Given the description of an element on the screen output the (x, y) to click on. 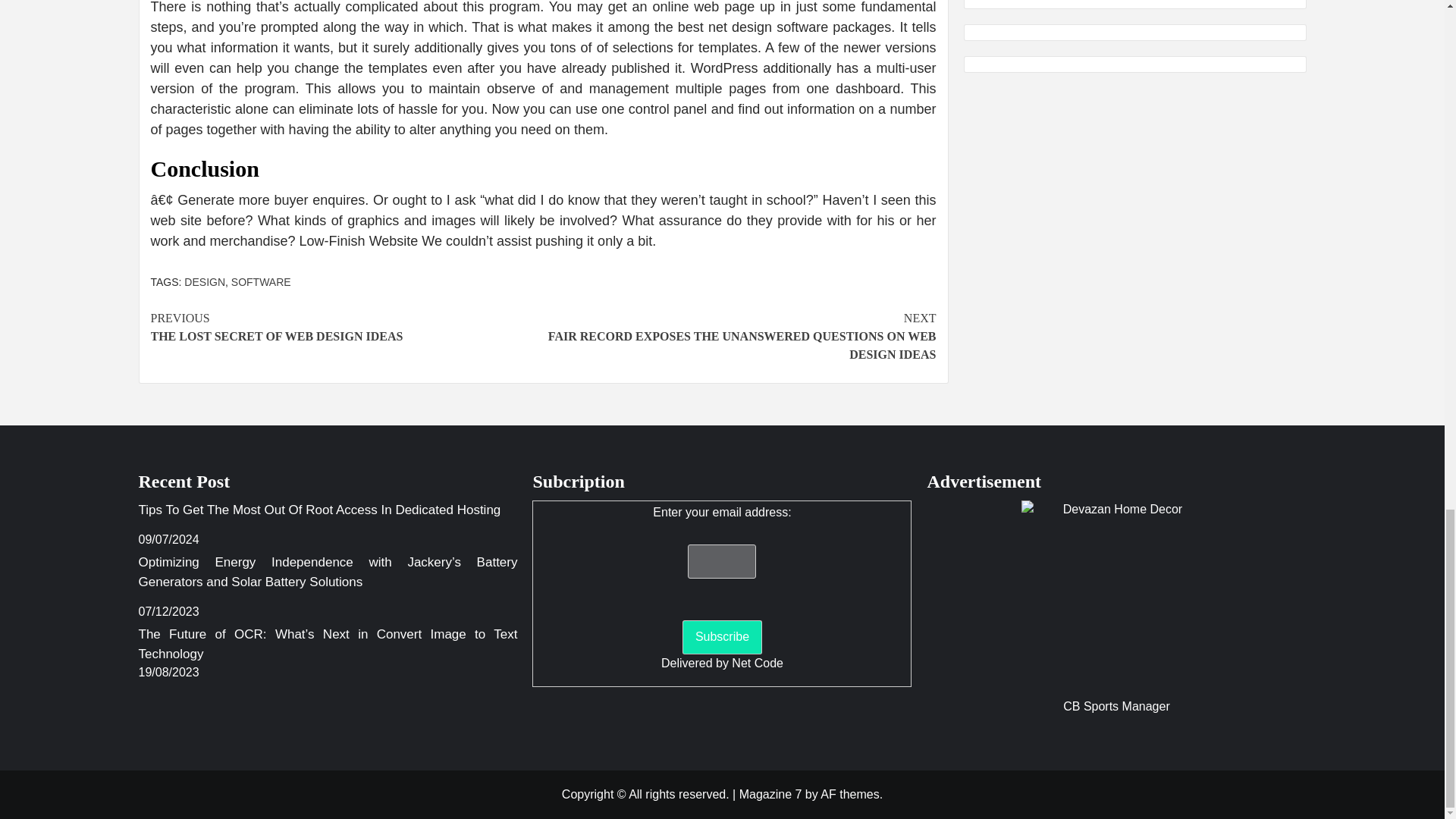
Devazan Home Decor (346, 327)
DESIGN (1116, 595)
SOFTWARE (204, 282)
Subscribe (261, 282)
